Given the description of an element on the screen output the (x, y) to click on. 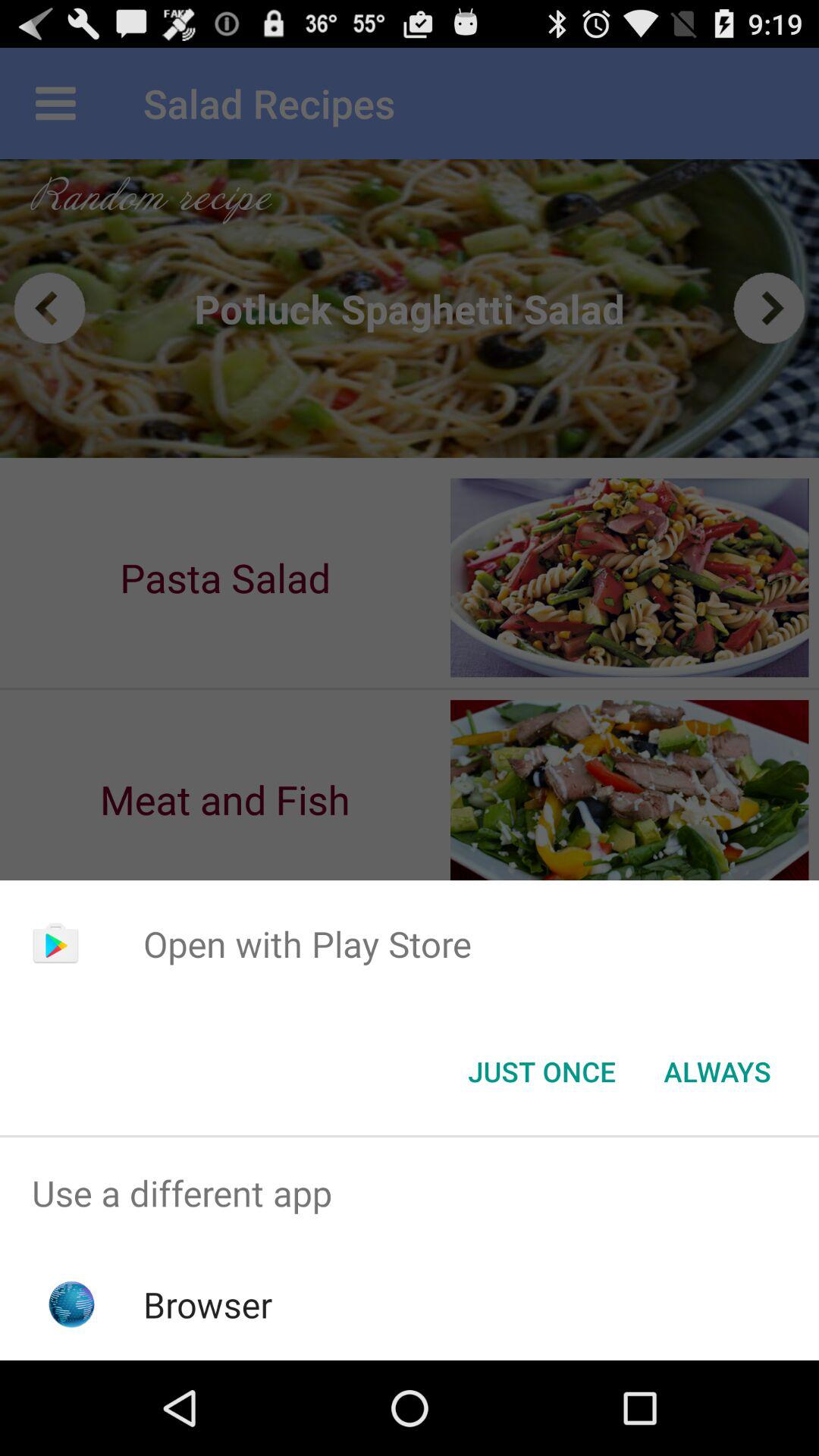
turn off the browser item (207, 1304)
